Given the description of an element on the screen output the (x, y) to click on. 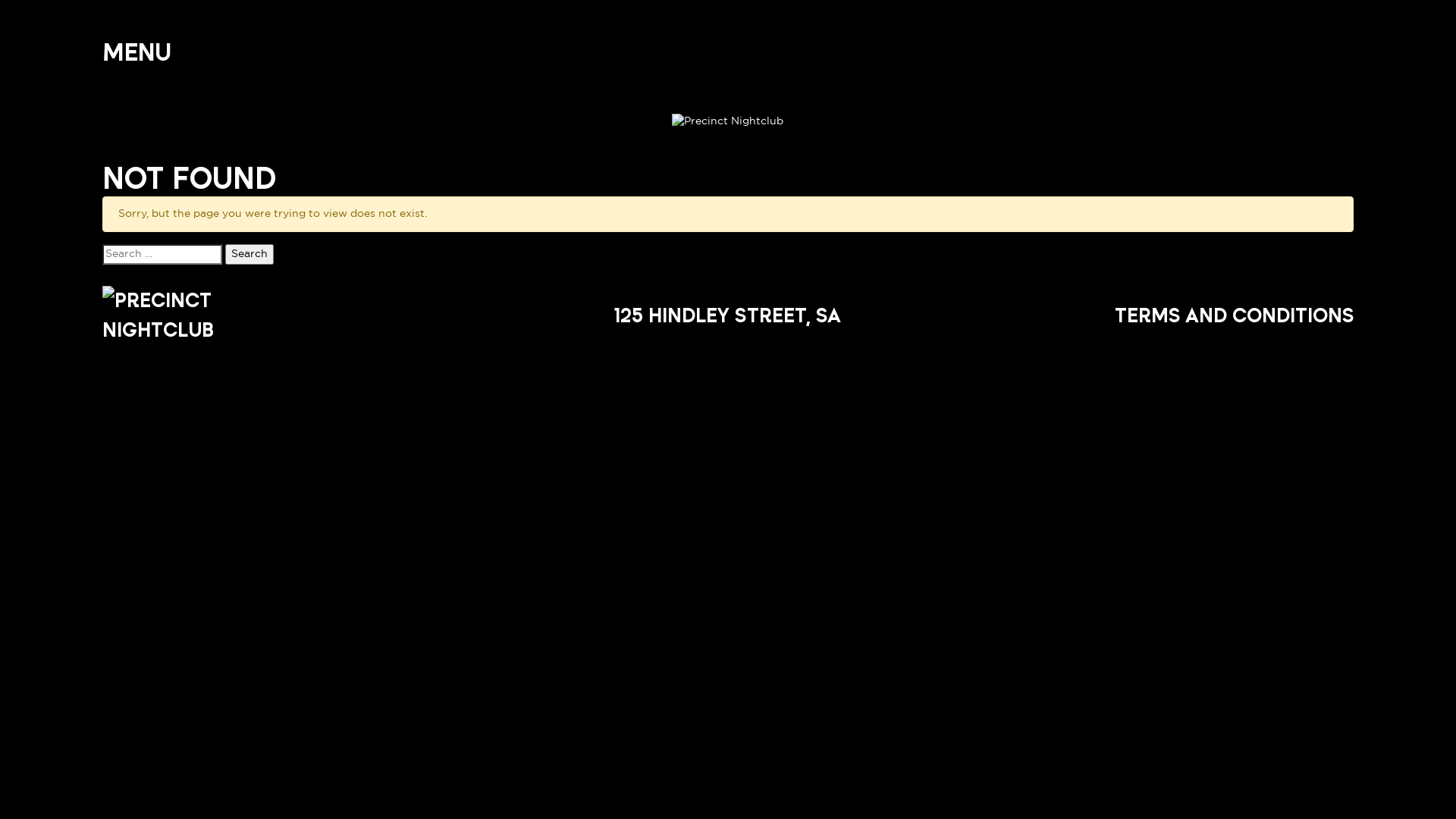
MENU Element type: text (136, 51)
TERMS AND CONDITIONS Element type: text (1233, 315)
Search Element type: text (249, 254)
125 HINDLEY STREET, SA Element type: text (727, 315)
